Given the description of an element on the screen output the (x, y) to click on. 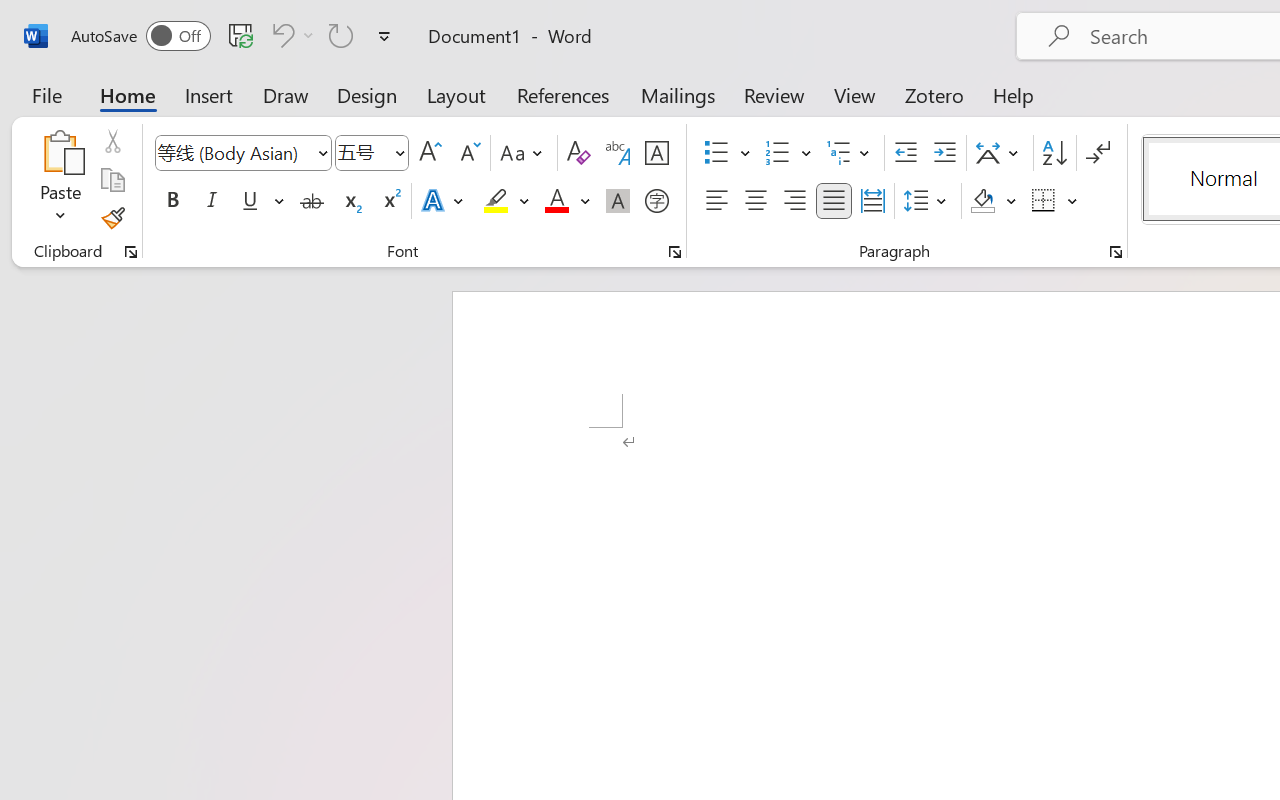
Font Color Red (556, 201)
